Given the description of an element on the screen output the (x, y) to click on. 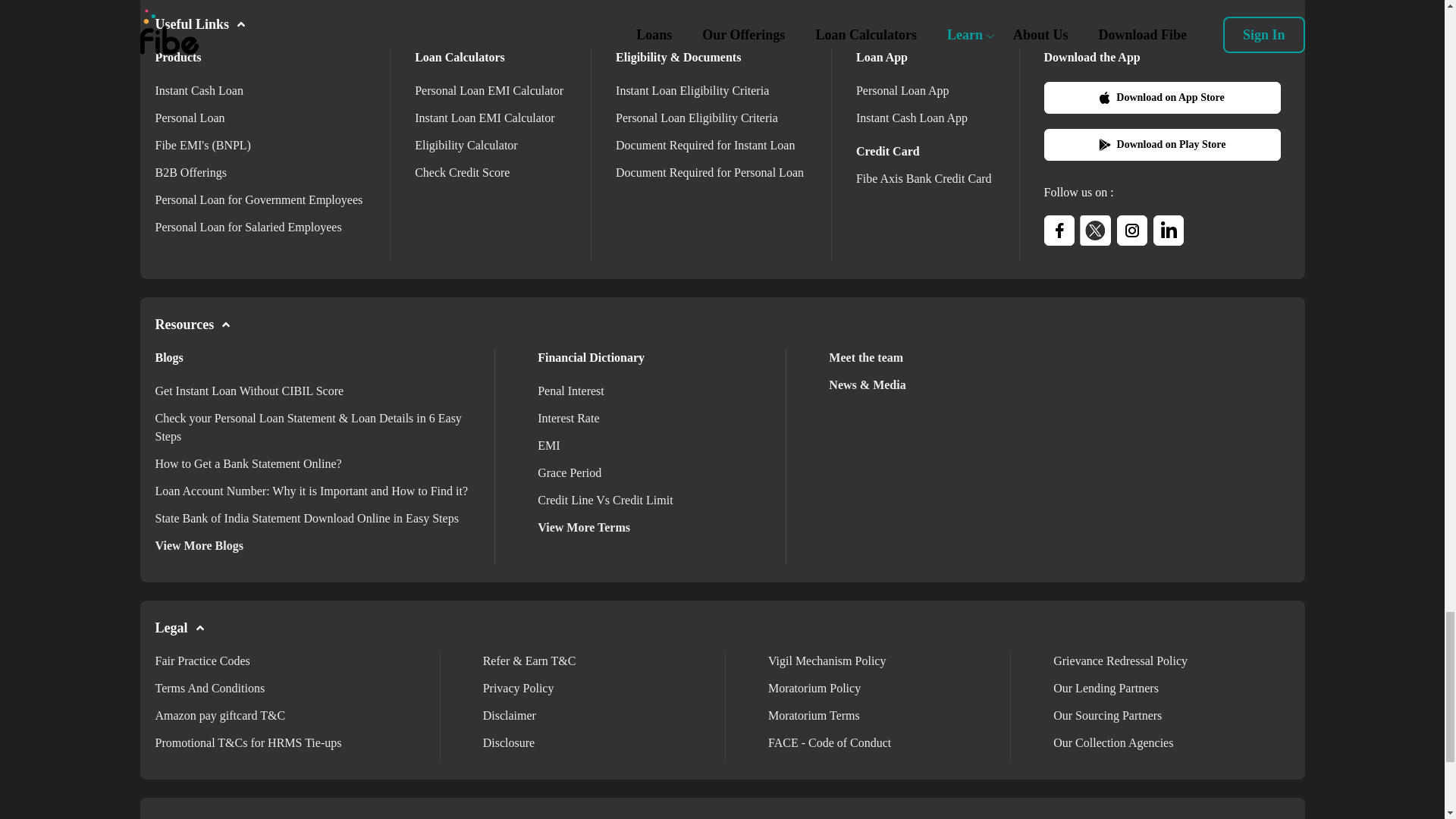
fair code practices (201, 660)
Disclaimer (509, 715)
moratorium policy (814, 687)
face code conduct (829, 742)
instagram (1131, 230)
Grievance Redressal Policy (1120, 660)
linkedin (1168, 230)
vigil mechanism policy (826, 660)
Our Collection Agencies (1112, 742)
Our Sourcing Partners (1106, 715)
Privacy Policy (518, 687)
terms conditions (209, 687)
Our Lending Partners (1105, 687)
facebook (1058, 230)
disclosure (508, 742)
